Given the description of an element on the screen output the (x, y) to click on. 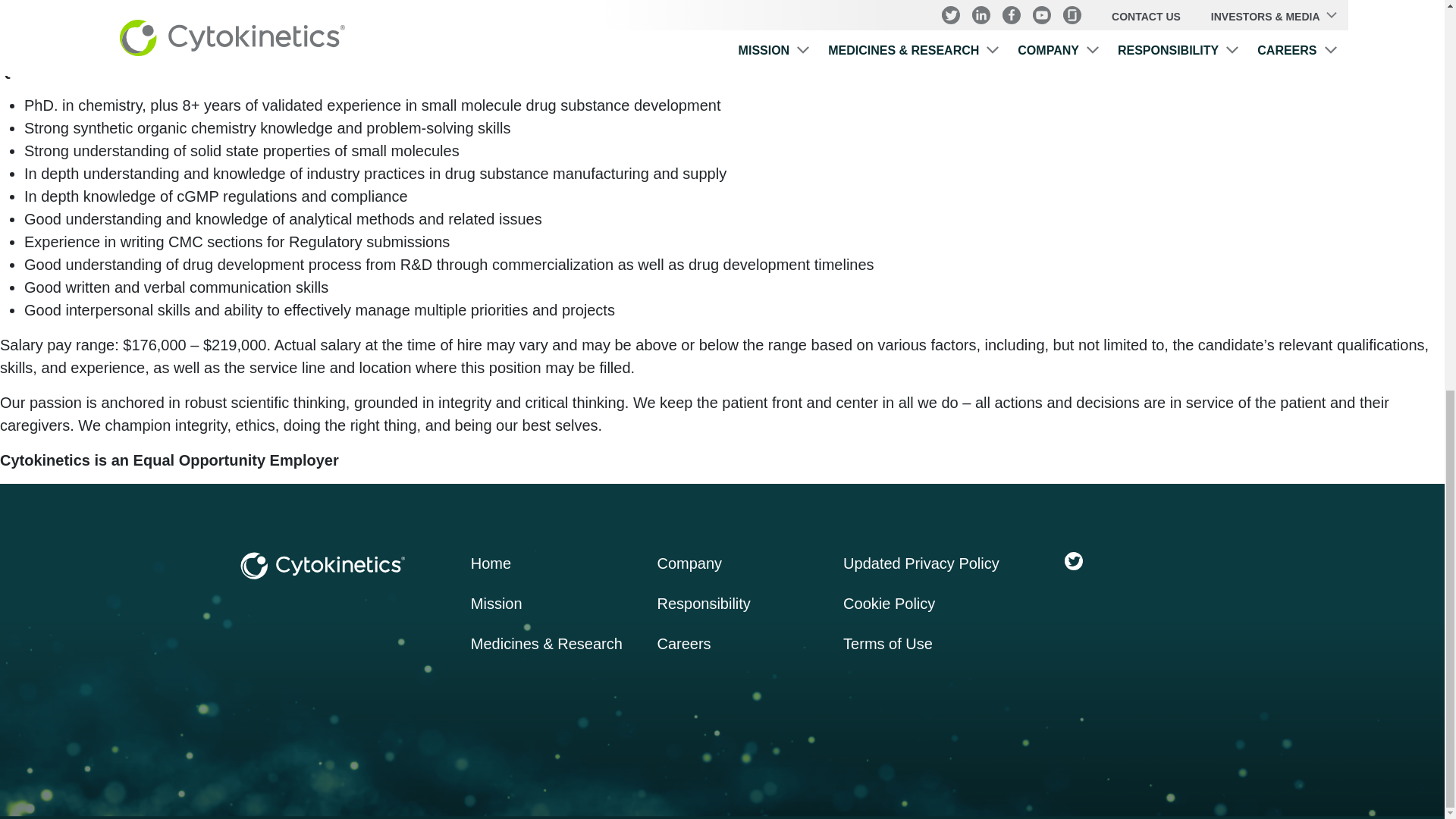
LinkedIn (1103, 561)
Glassdoor (1195, 561)
Facebook (1133, 561)
Twitter (1073, 561)
Youtube (1164, 561)
